Given the description of an element on the screen output the (x, y) to click on. 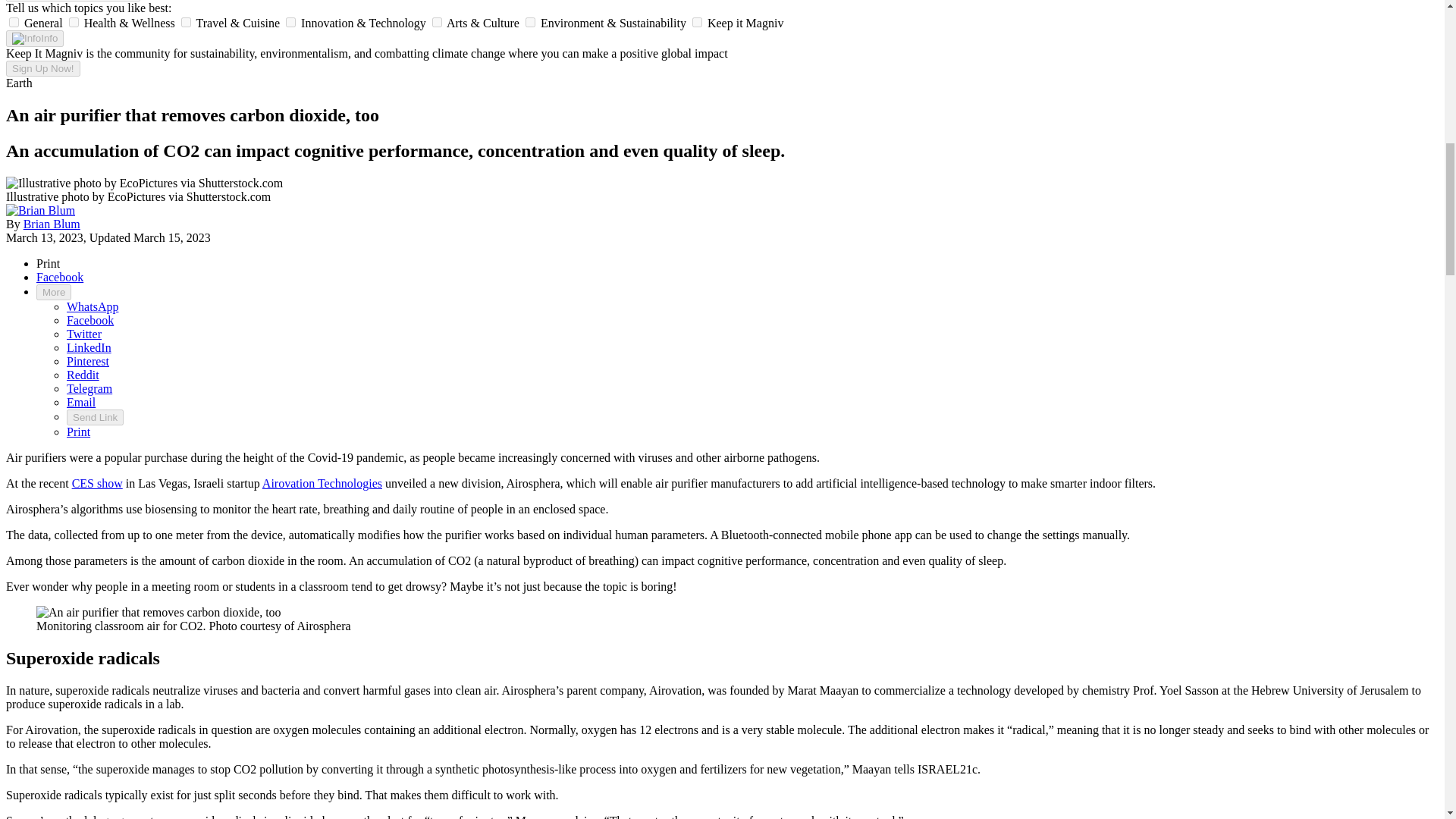
0 (13, 22)
Illustrative photo by EcoPictures via Shutterstock.com (143, 183)
Brian Blum (51, 223)
Info (34, 38)
1 (73, 22)
3 (290, 22)
2 (185, 22)
5 (530, 22)
Brian Blum (40, 210)
4 (437, 22)
6 (697, 22)
Brian Blum (40, 210)
